Given the description of an element on the screen output the (x, y) to click on. 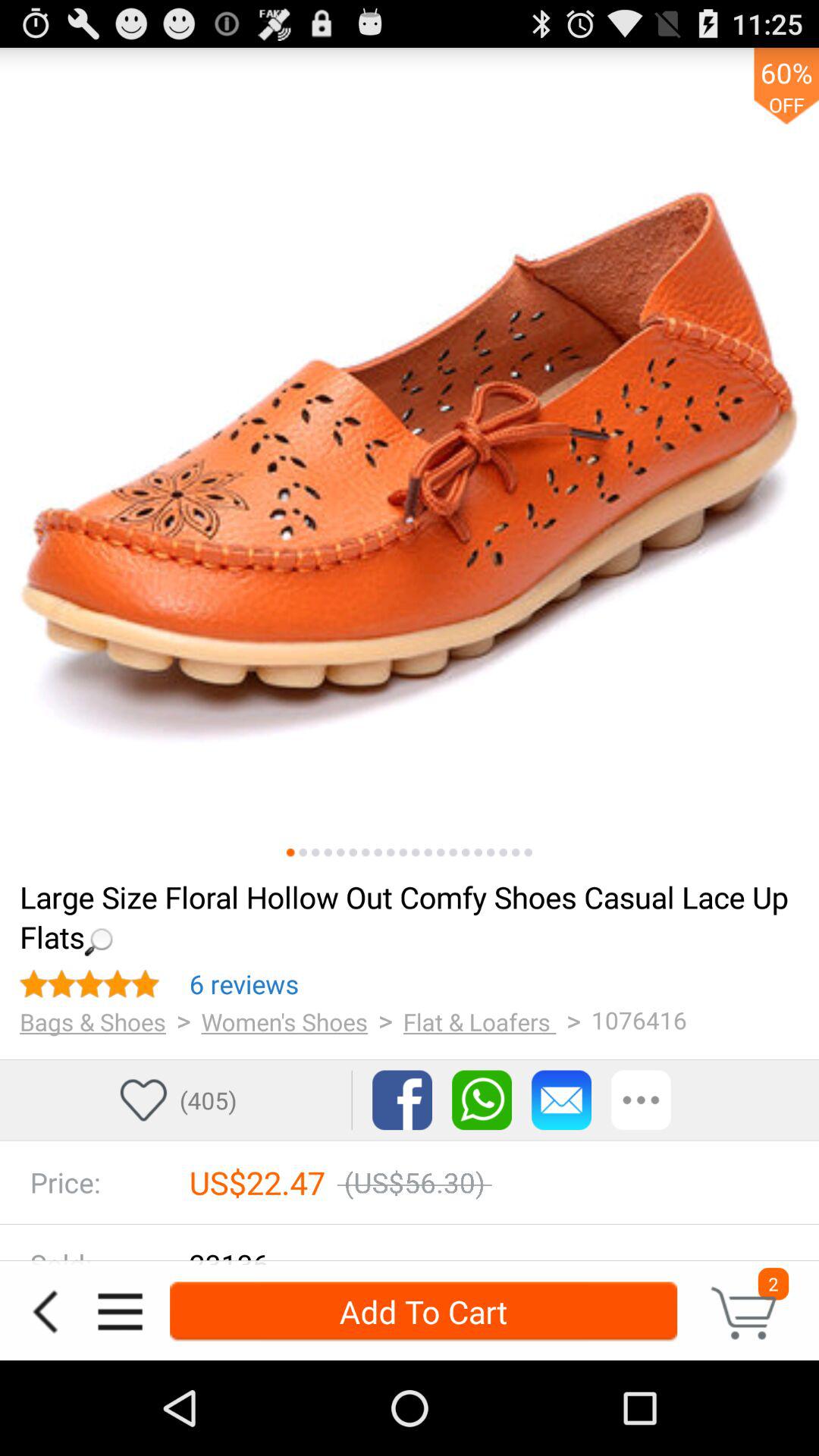
like on facebook (402, 1100)
